Given the description of an element on the screen output the (x, y) to click on. 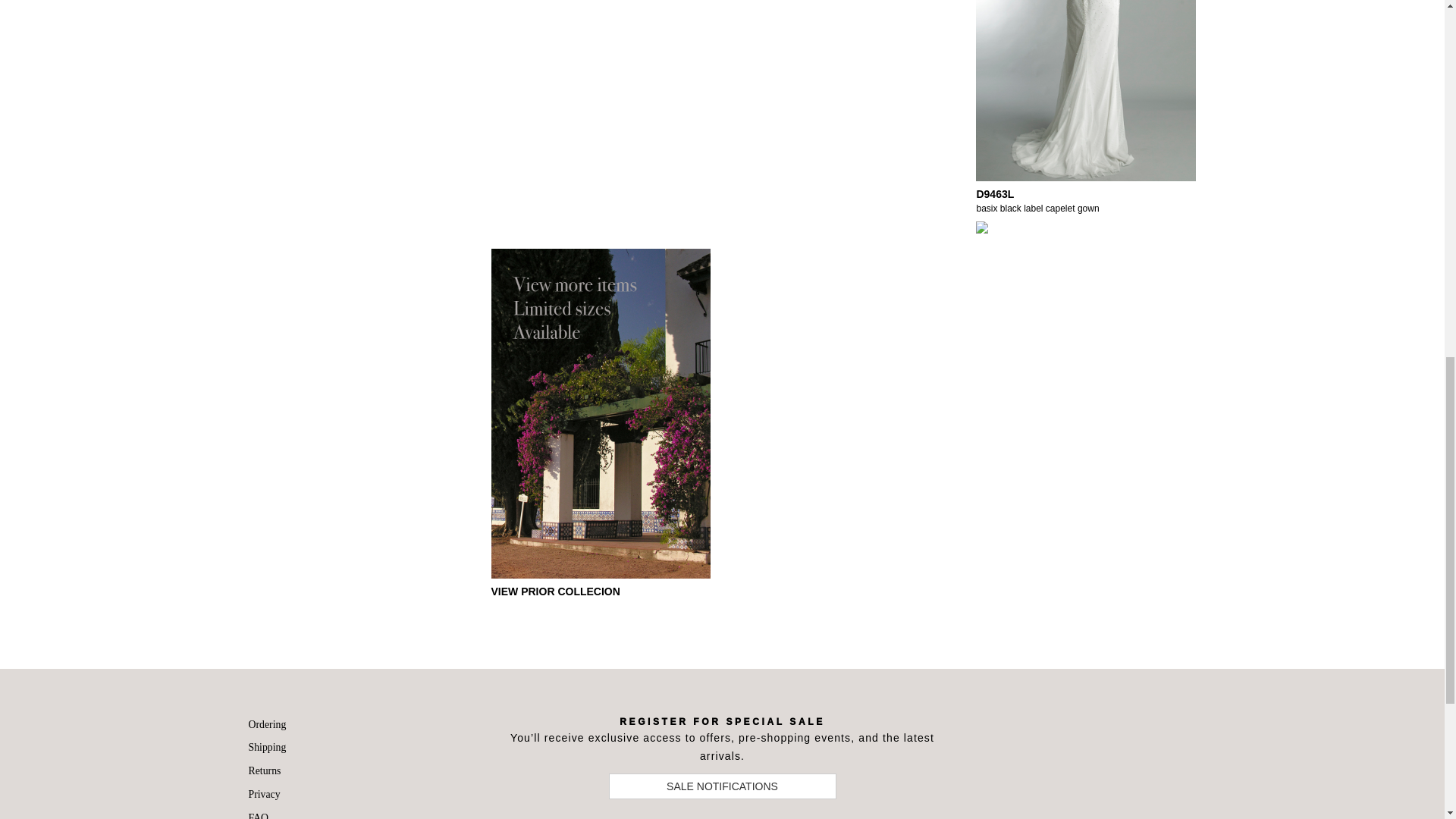
White (981, 230)
